Given the description of an element on the screen output the (x, y) to click on. 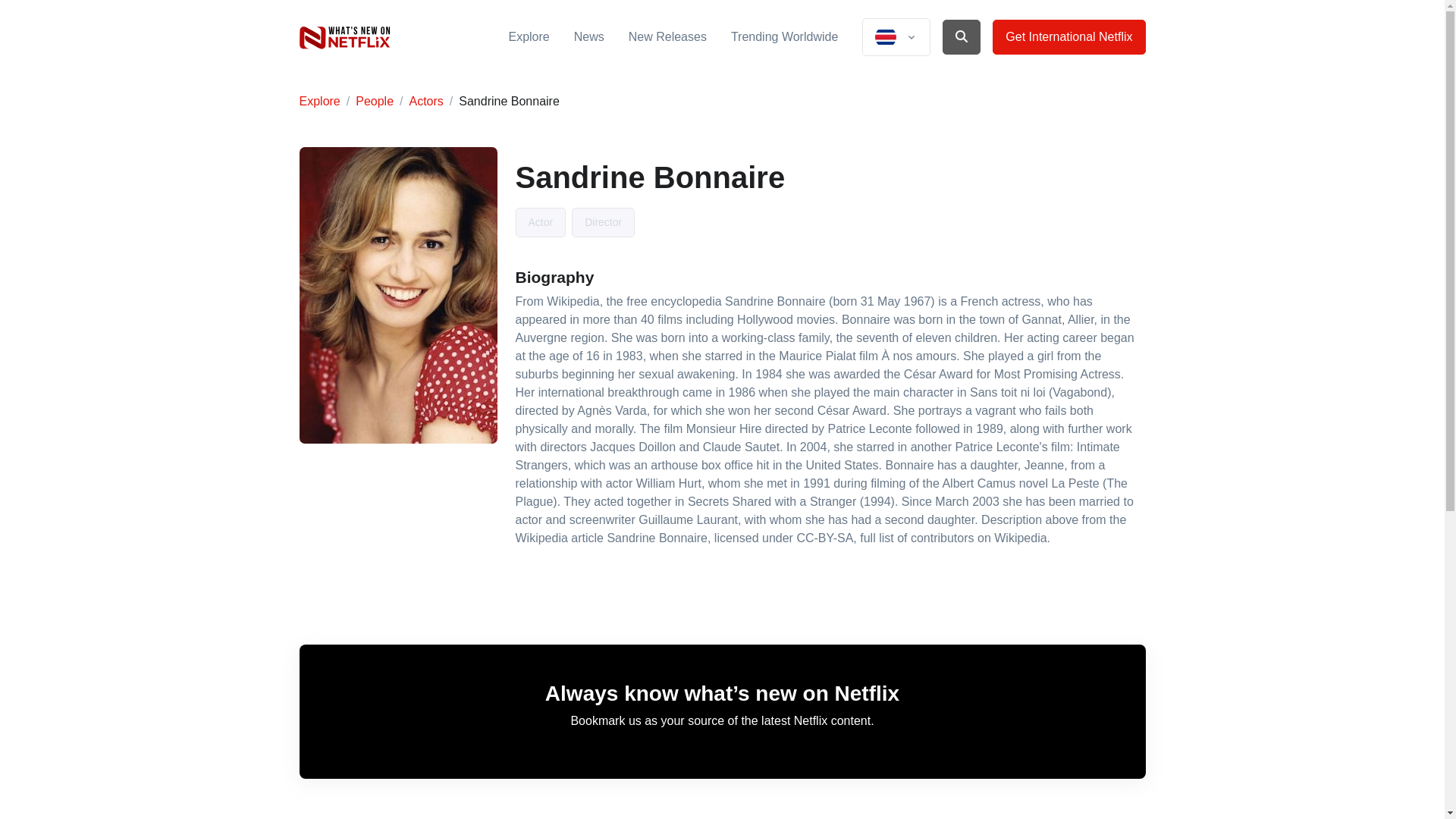
News (588, 36)
New Releases (668, 36)
Trending Worldwide (784, 36)
Explore (528, 36)
